Given the description of an element on the screen output the (x, y) to click on. 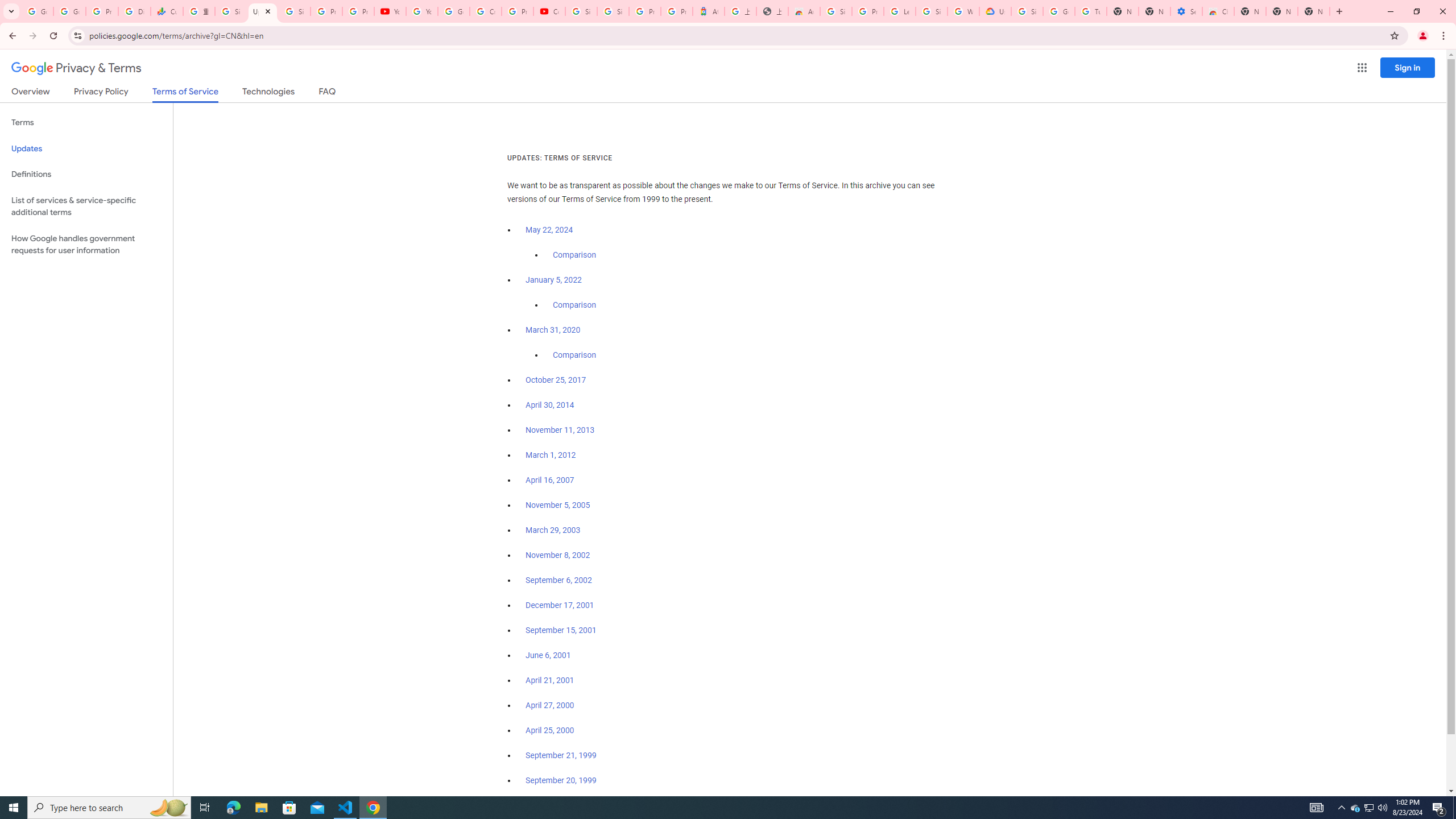
Sign in - Google Accounts (294, 11)
March 31, 2020 (552, 330)
Content Creator Programs & Opportunities - YouTube Creators (549, 11)
Terms of Service (184, 94)
January 5, 2022 (553, 280)
Google Account Help (453, 11)
Awesome Screen Recorder & Screenshot - Chrome Web Store (804, 11)
September 20, 1999 (560, 780)
How Google handles government requests for user information (86, 244)
Privacy Policy (100, 93)
